Given the description of an element on the screen output the (x, y) to click on. 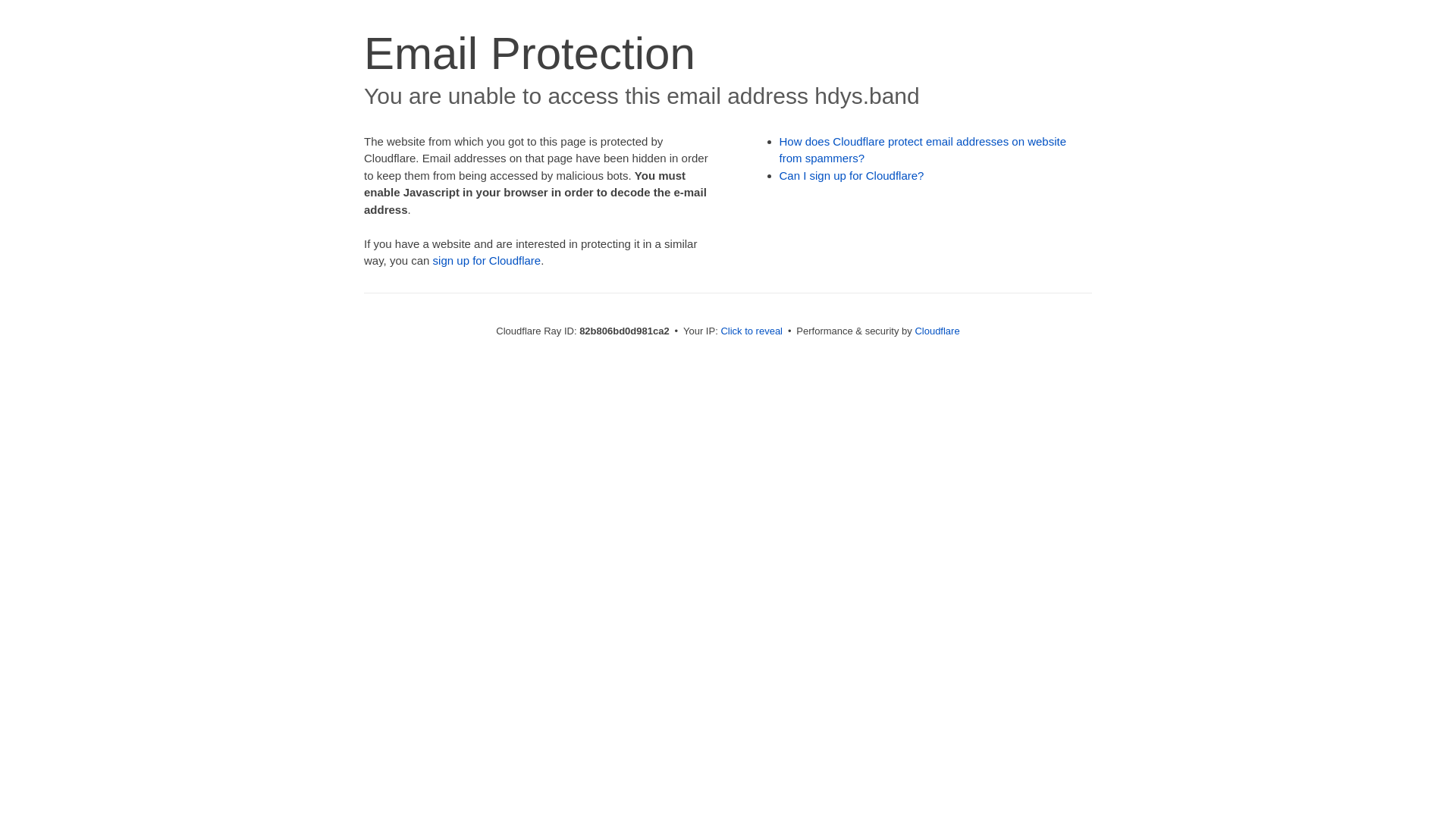
Can I sign up for Cloudflare? Element type: text (851, 175)
Cloudflare Element type: text (936, 330)
sign up for Cloudflare Element type: text (487, 260)
Click to reveal Element type: text (751, 330)
